Given the description of an element on the screen output the (x, y) to click on. 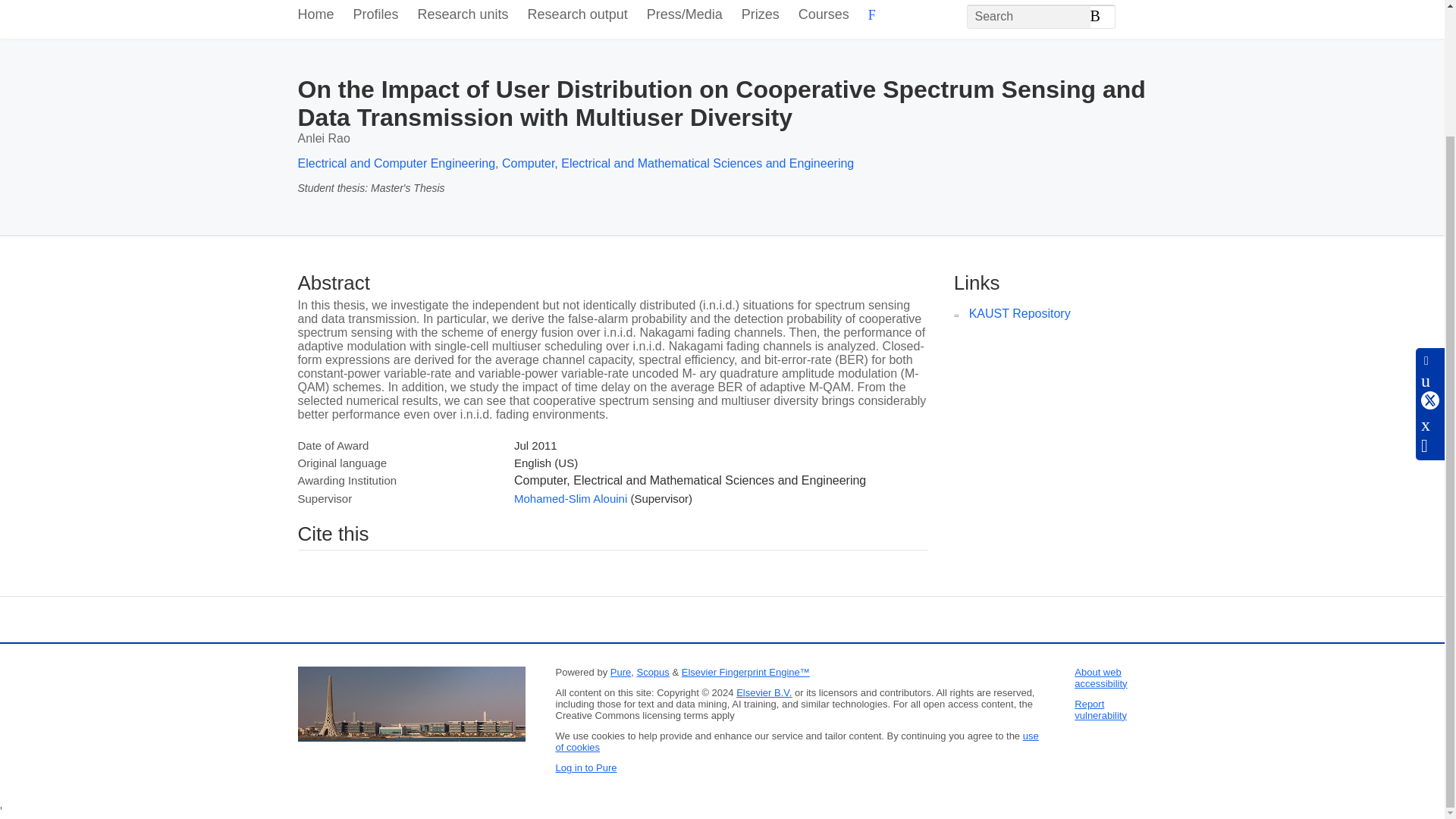
Electrical and Computer Engineering (396, 163)
Prizes (759, 18)
use of cookies (796, 741)
Research units (462, 18)
Pure (620, 672)
About web accessibility (1100, 677)
KAUST Repository (1019, 313)
Elsevier B.V. (764, 692)
Mohamed-Slim Alouini (570, 498)
Courses (822, 18)
Profiles (375, 18)
Research output (577, 18)
Scopus (652, 672)
Home (315, 18)
